Given the description of an element on the screen output the (x, y) to click on. 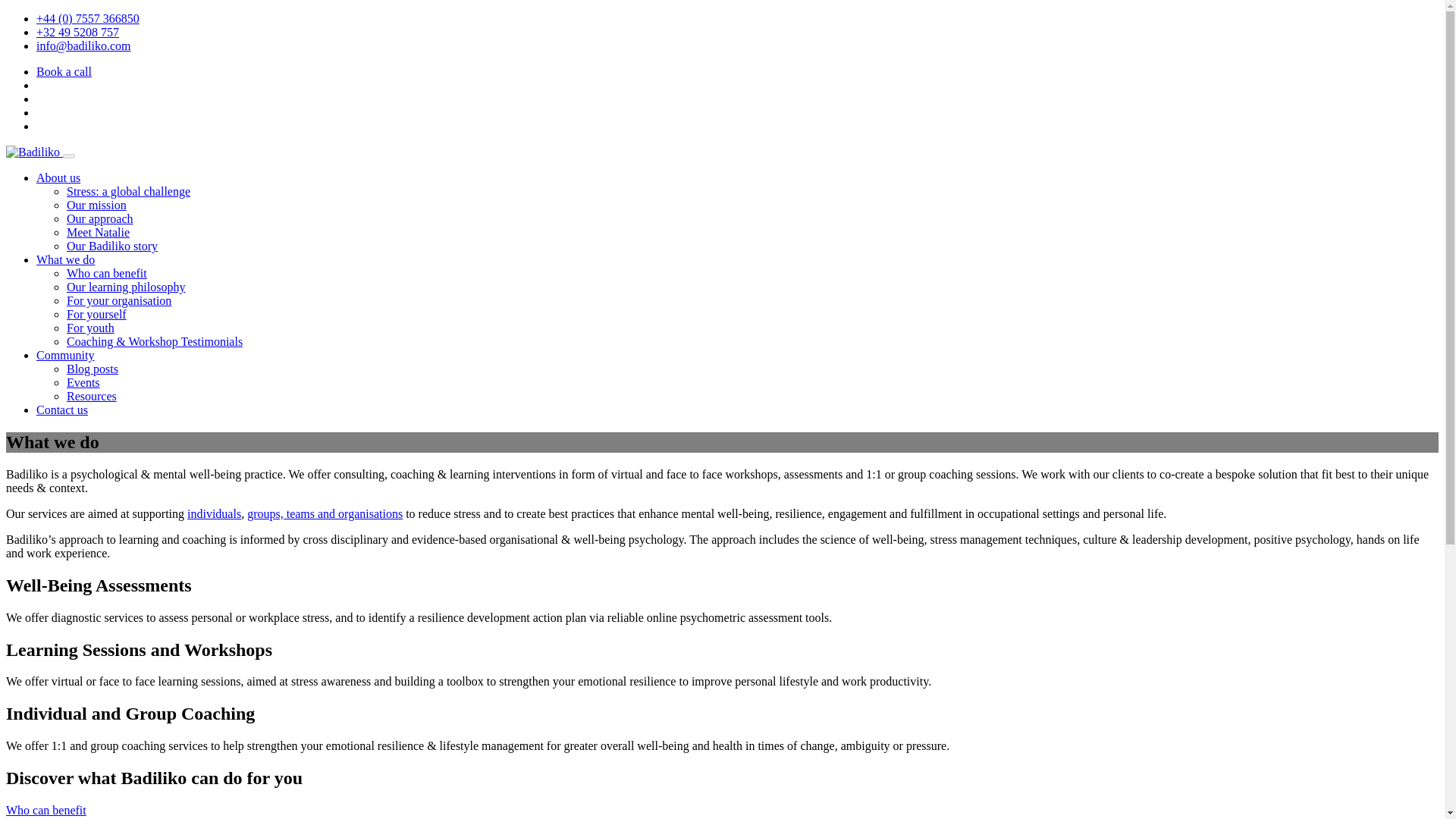
individuals (214, 513)
Blog posts (91, 368)
Who can benefit (106, 273)
What we do (65, 259)
Events (83, 382)
Contact us (61, 409)
For yourself (96, 314)
Stress: a global challenge (128, 191)
Our approach (99, 218)
Our learning philosophy (125, 286)
